Given the description of an element on the screen output the (x, y) to click on. 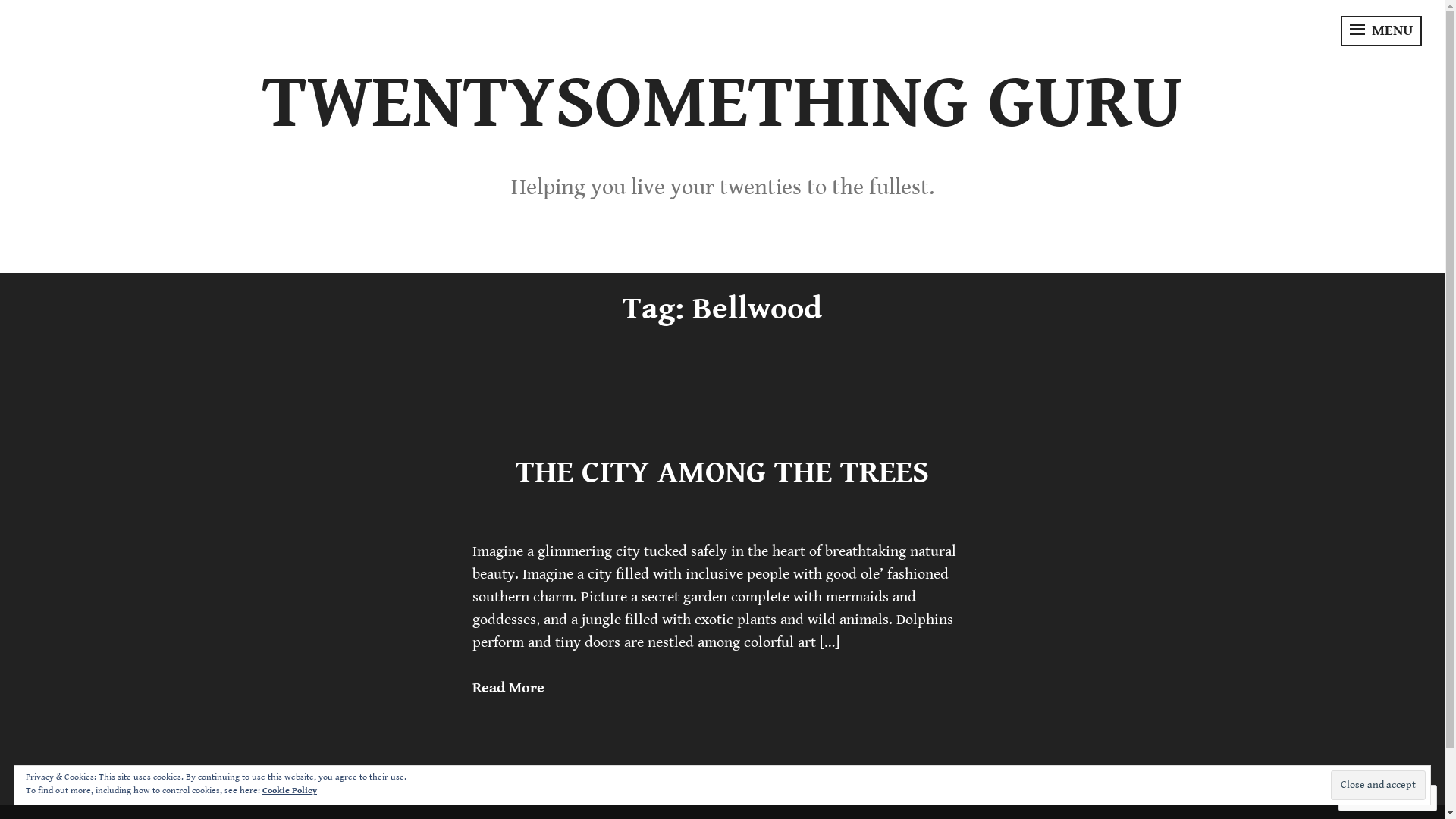
Follow Element type: text (1372, 797)
Close and accept Element type: text (1377, 785)
TWENTYSOMETHING GURU Element type: text (722, 103)
Cookie Policy Element type: text (289, 790)
THE CITY AMONG THE TREES Element type: text (721, 472)
Read More Element type: text (507, 687)
MENU Element type: text (1380, 30)
